Given the description of an element on the screen output the (x, y) to click on. 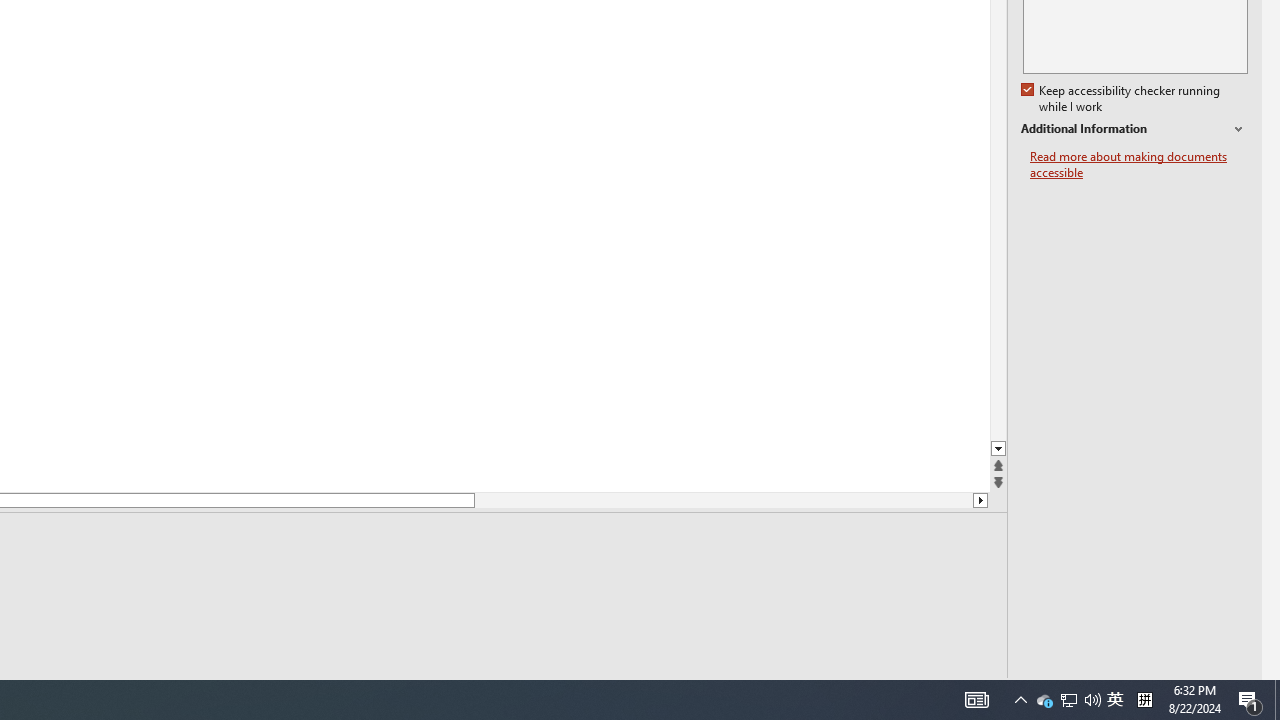
Tray Input Indicator - Chinese (Simplified, China) (1069, 699)
AutomationID: 4105 (1144, 699)
User Promoted Notification Area (1115, 699)
Notification Chevron (976, 699)
Slide Show Previous On (1044, 699)
Menu On (1068, 699)
